Given the description of an element on the screen output the (x, y) to click on. 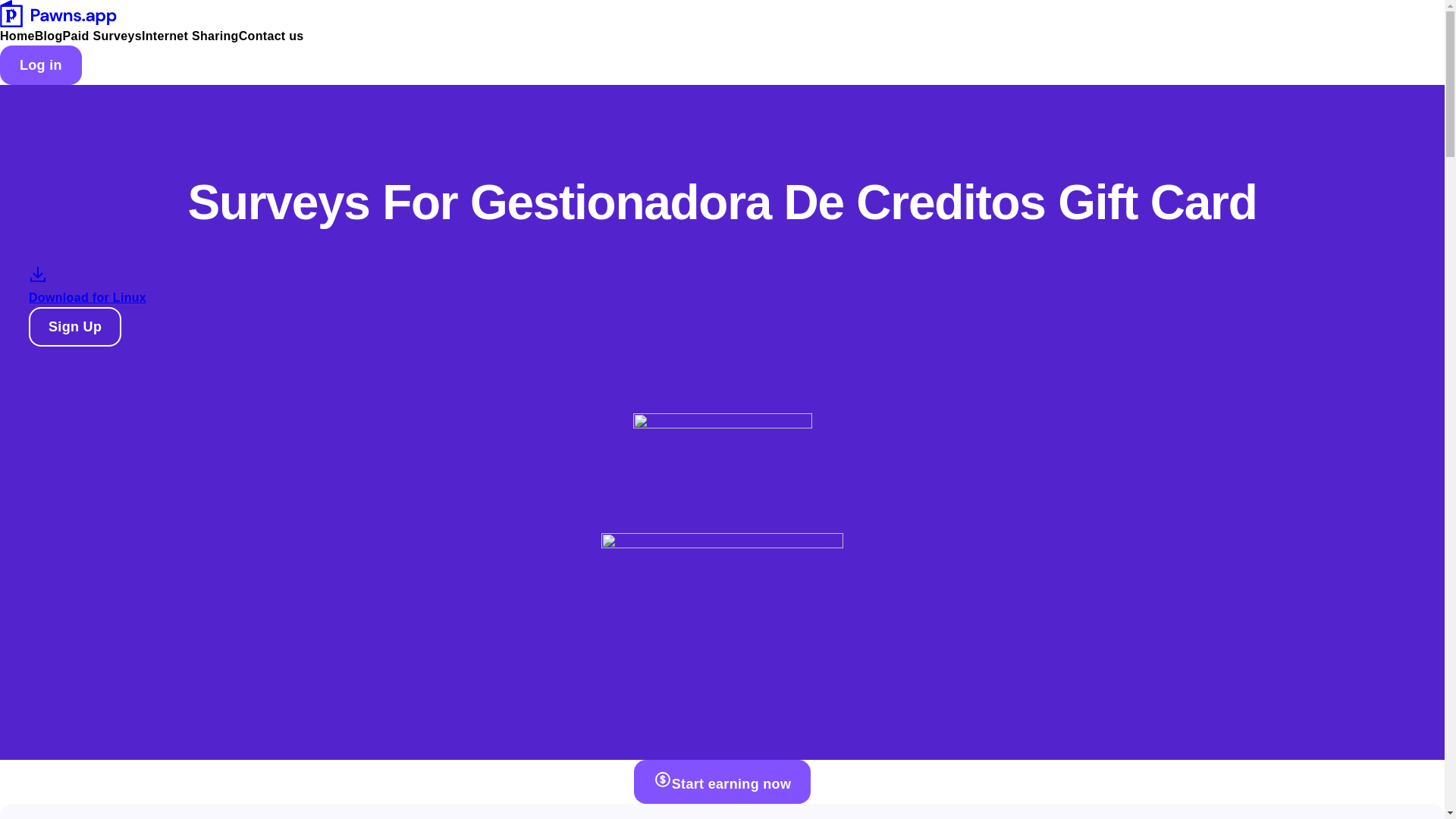
Internet Sharing (189, 36)
Contact us (271, 36)
Log in (40, 65)
Start earning now (721, 781)
Sign Up (74, 326)
Paid Surveys (101, 36)
Blog (48, 36)
Home (17, 36)
Download for Linux (88, 299)
